Given the description of an element on the screen output the (x, y) to click on. 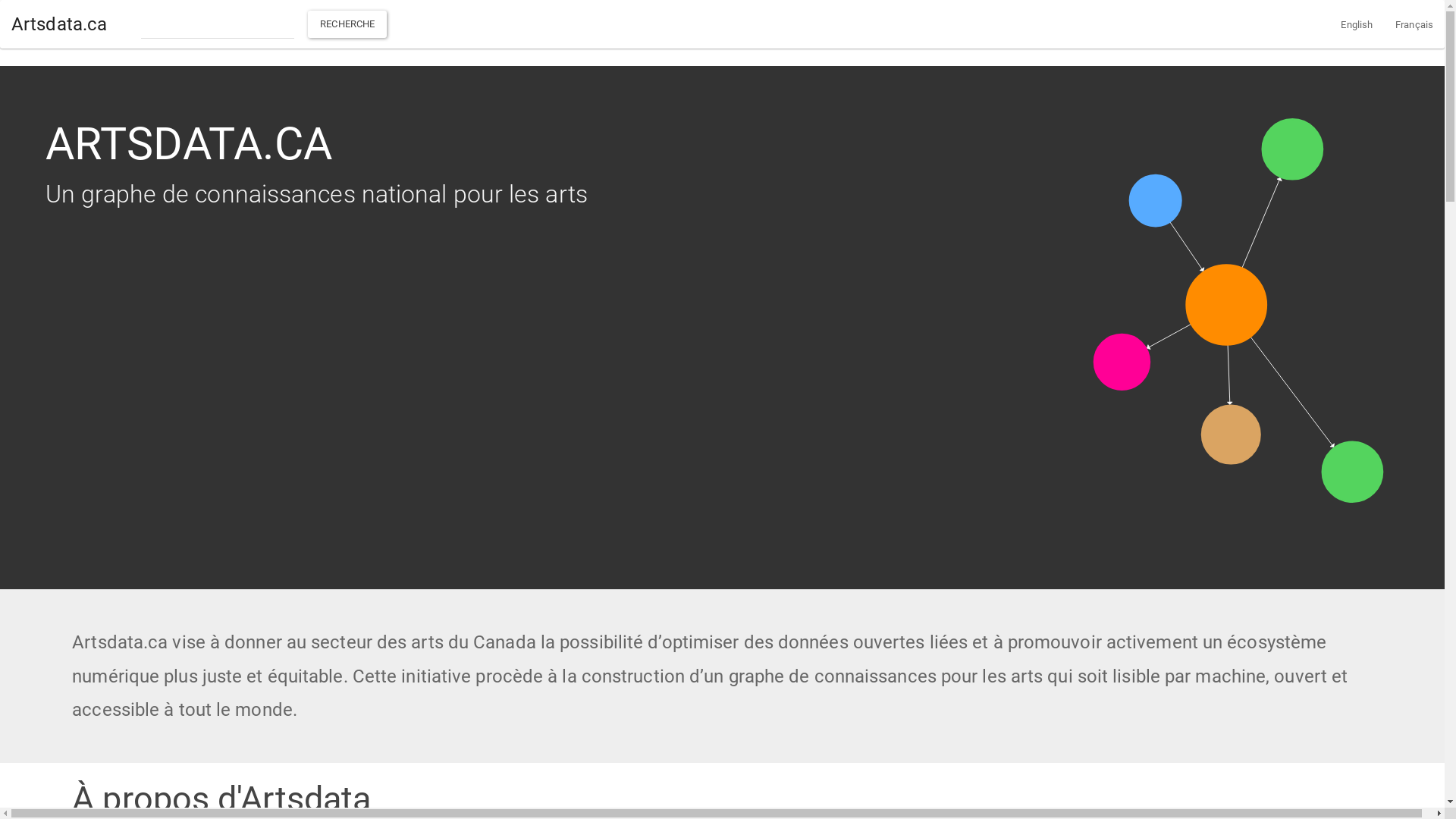
Artsdata.ca Element type: text (59, 24)
RECHERCHE Element type: text (346, 23)
English Element type: text (1356, 24)
